Given the description of an element on the screen output the (x, y) to click on. 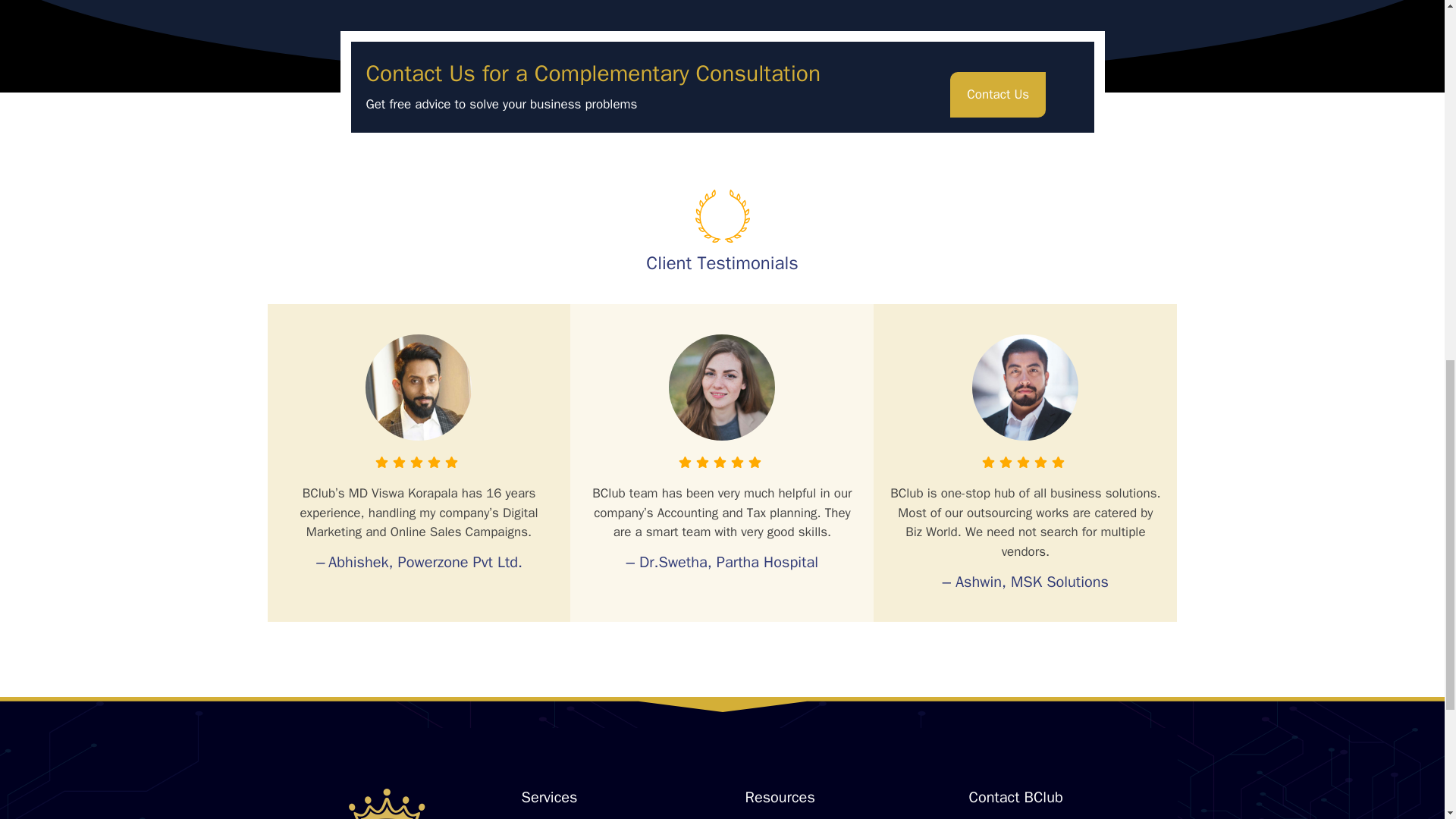
Scroll back to top (1406, 720)
Contact Us (997, 94)
